Given the description of an element on the screen output the (x, y) to click on. 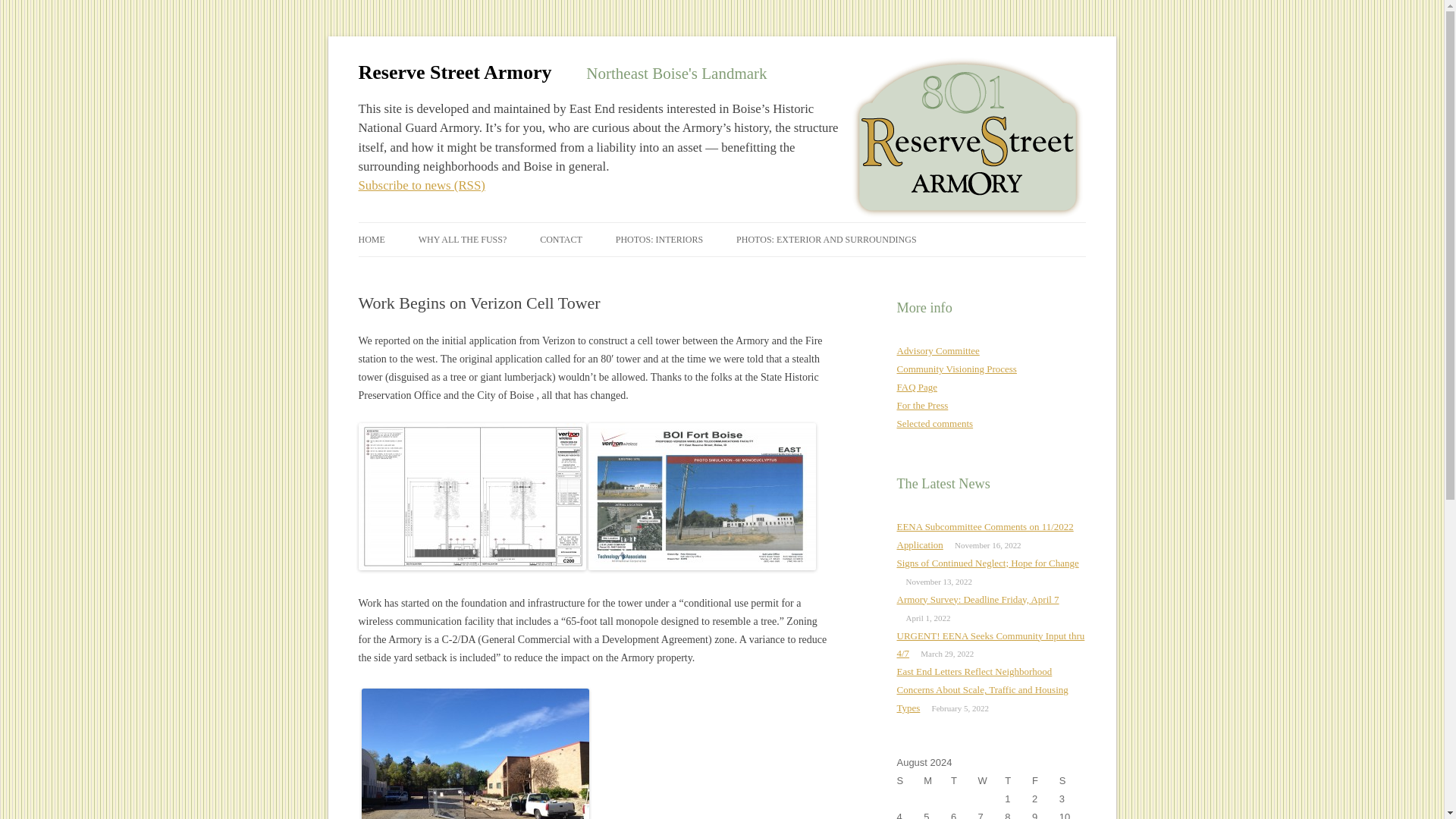
Armory Survey: Deadline Friday, April 7 (977, 599)
Monday (936, 781)
For the Press (921, 405)
Reserve Street Armory (454, 72)
FAQ Page (916, 387)
PHOTOS: EXTERIOR AND SURROUNDINGS (825, 239)
PHOTOS: INTERIORS (659, 239)
